Given the description of an element on the screen output the (x, y) to click on. 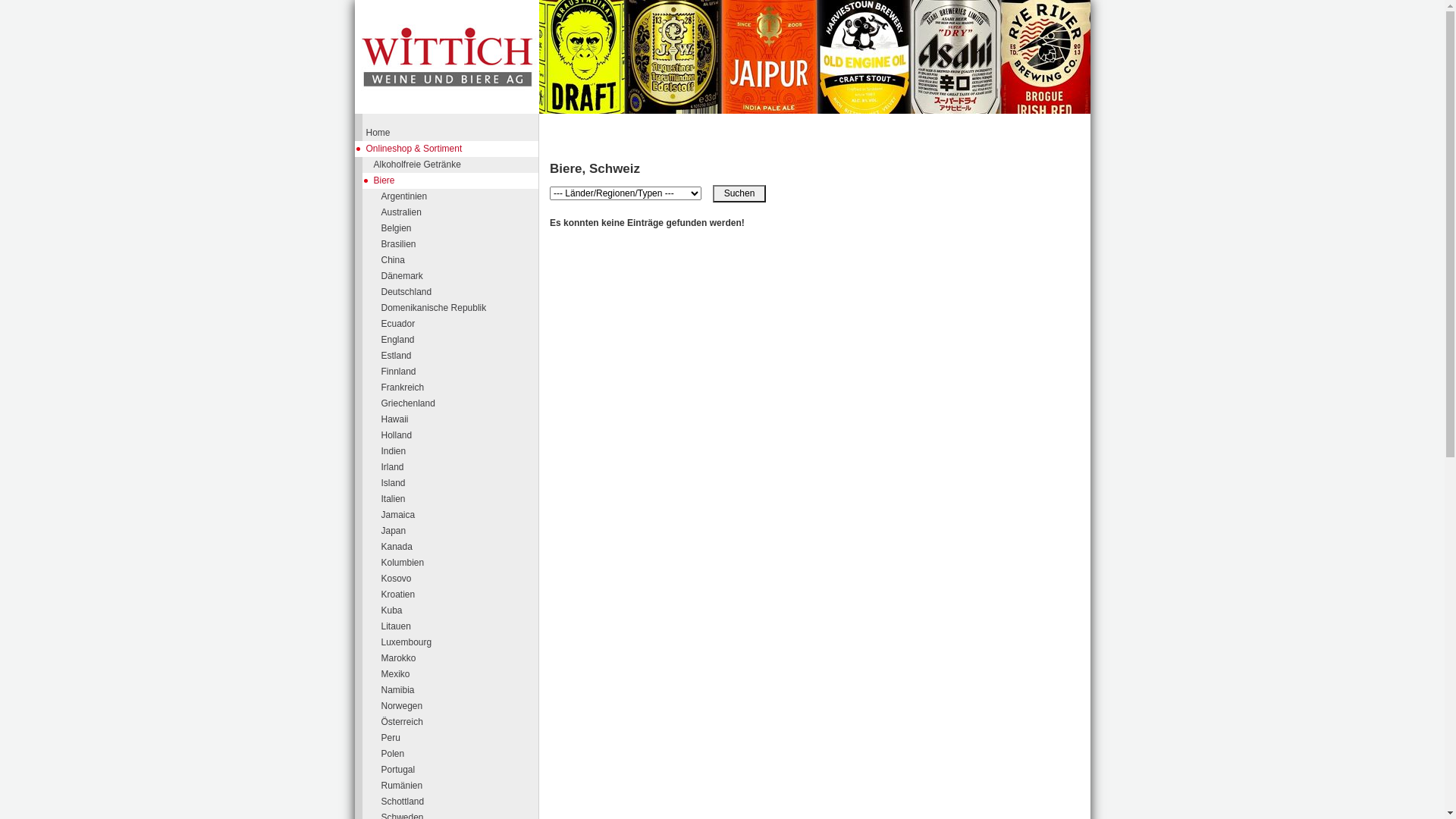
Italien Element type: text (458, 499)
Deutschland Element type: text (458, 292)
Namibia Element type: text (458, 690)
Suchen Element type: text (738, 193)
Kanada Element type: text (458, 547)
Onlineshop & Sortiment Element type: text (446, 148)
Litauen Element type: text (458, 626)
Estland Element type: text (458, 356)
Finnland Element type: text (458, 371)
England Element type: text (458, 340)
Brasilien Element type: text (458, 244)
Norwegen Element type: text (458, 706)
Indien Element type: text (458, 451)
Island Element type: text (458, 483)
Schottland Element type: text (458, 801)
Belgien Element type: text (458, 228)
Mexiko Element type: text (458, 674)
Kosovo Element type: text (458, 578)
Peru Element type: text (458, 738)
Ecuador Element type: text (458, 324)
Domenikanische Republik Element type: text (458, 308)
Irland Element type: text (458, 467)
Kuba Element type: text (458, 610)
Japan Element type: text (458, 531)
China Element type: text (458, 260)
Marokko Element type: text (458, 658)
Biere Element type: text (450, 180)
Portugal Element type: text (458, 770)
Argentinien Element type: text (458, 196)
Holland Element type: text (458, 435)
Home Element type: text (446, 133)
Australien Element type: text (458, 212)
Luxembourg Element type: text (458, 642)
Polen Element type: text (458, 754)
Jamaica Element type: text (458, 515)
Kolumbien Element type: text (458, 563)
Griechenland Element type: text (458, 403)
Hawaii Element type: text (458, 419)
Frankreich Element type: text (458, 387)
Kroatien Element type: text (458, 594)
